Given the description of an element on the screen output the (x, y) to click on. 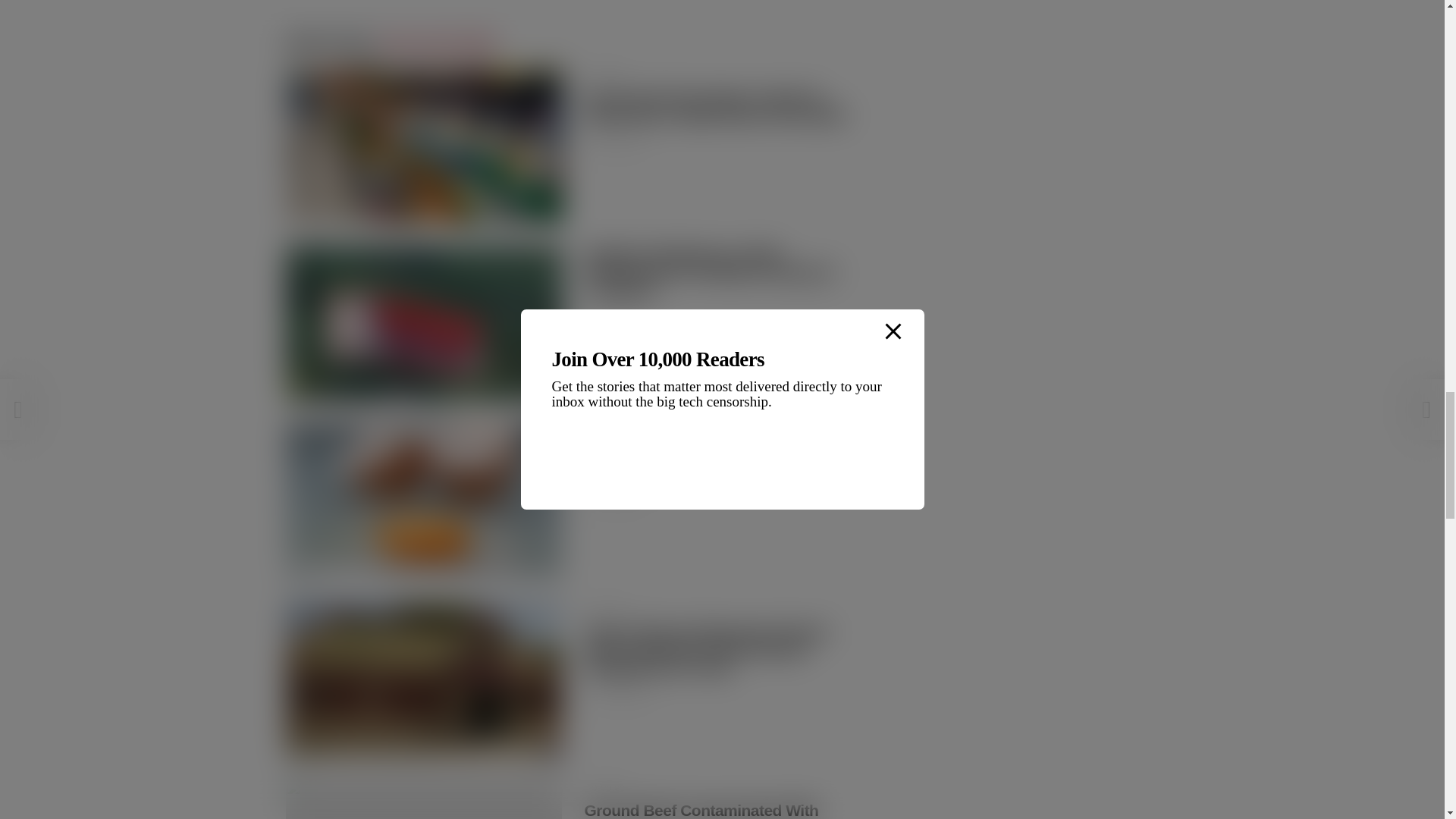
August 4, 2023, 6:01 pm (616, 695)
February 29, 2024, 2:17 pm (613, 142)
FOOD AND DRINK (437, 43)
February 19, 2024, 2:58 pm (613, 499)
February 28, 2024, 11:38 am (613, 317)
